Given the description of an element on the screen output the (x, y) to click on. 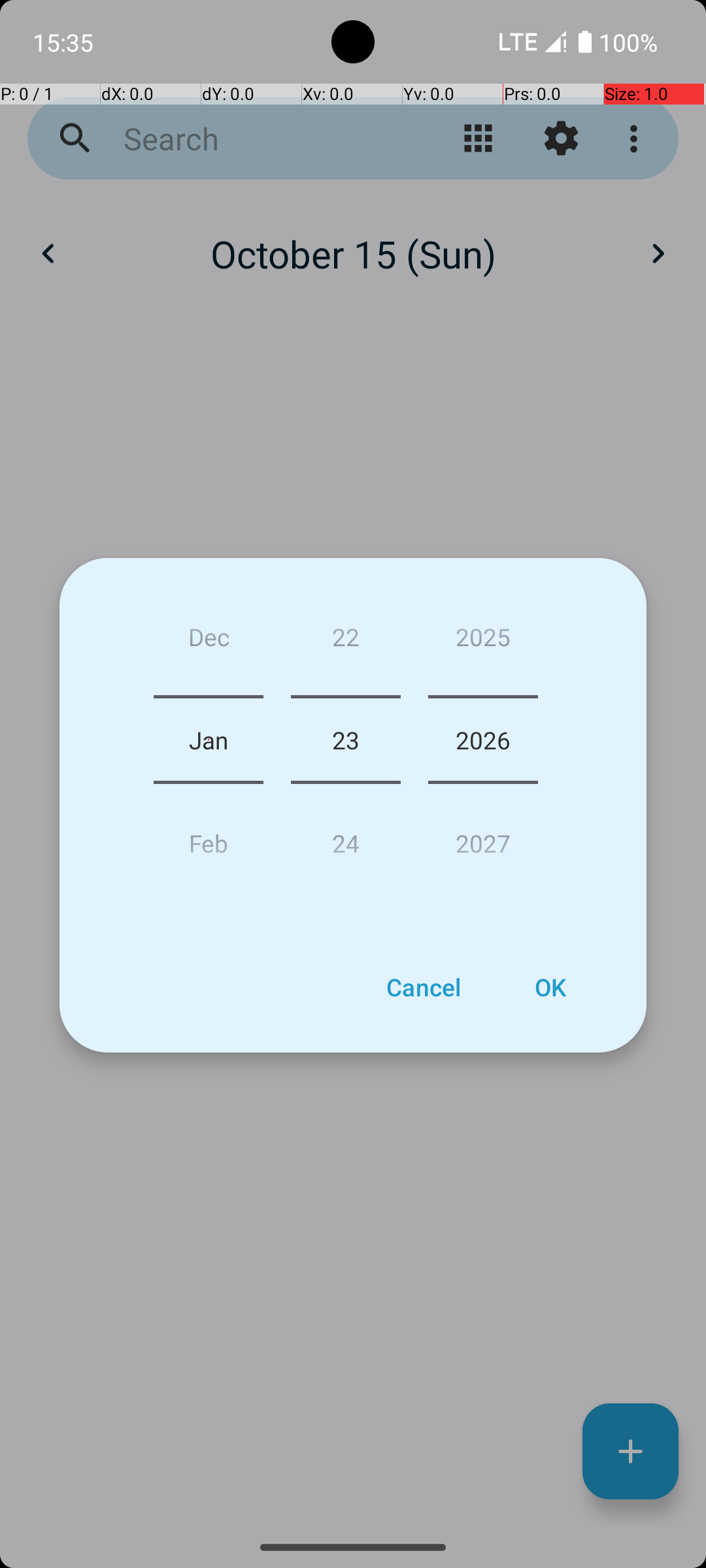
Dec Element type: android.widget.Button (208, 641)
Jan Element type: android.widget.EditText (208, 739)
Feb Element type: android.widget.Button (208, 837)
2027 Element type: android.widget.Button (482, 837)
